Given the description of an element on the screen output the (x, y) to click on. 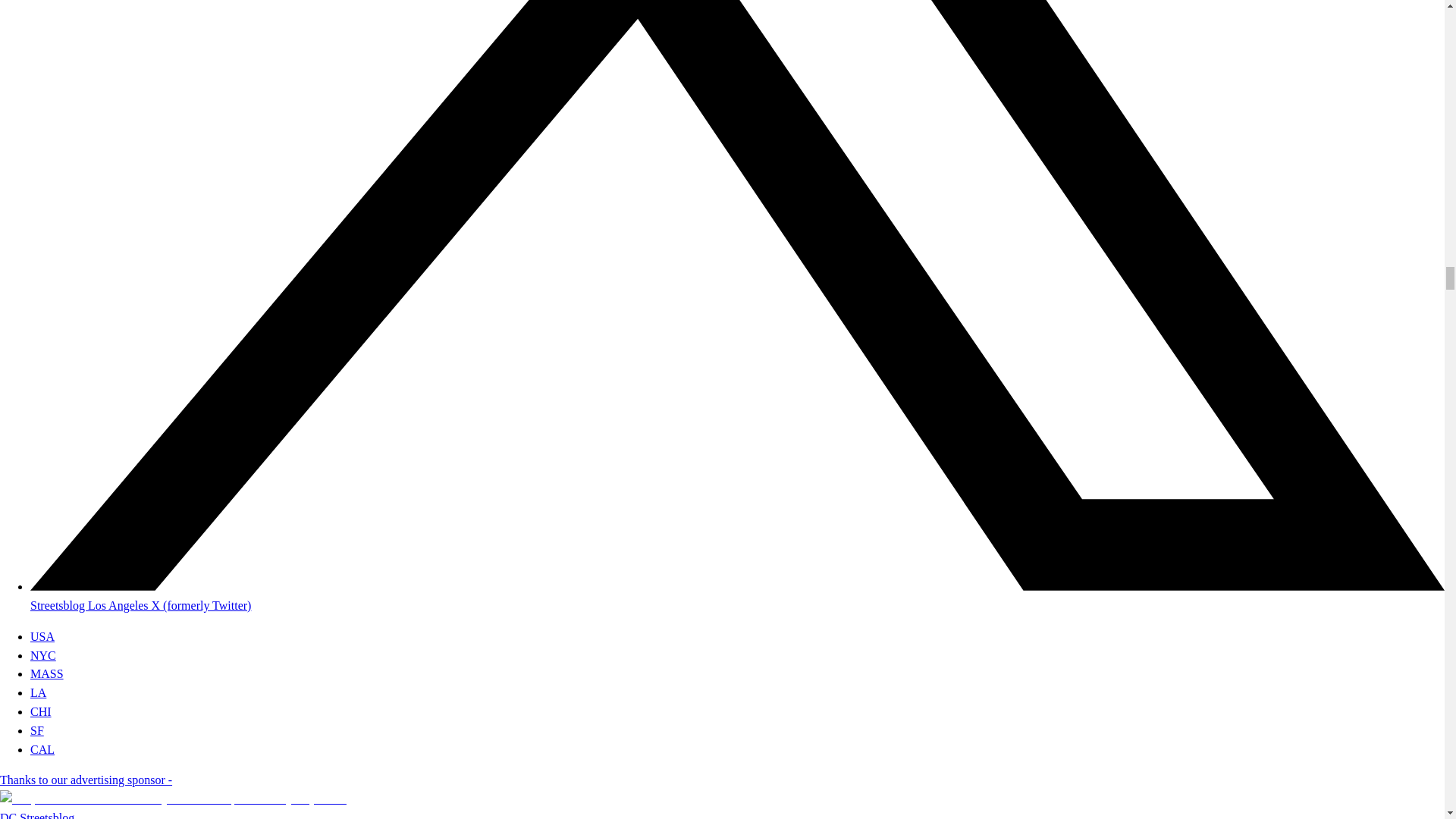
USA (42, 635)
MASS (47, 673)
CAL (42, 748)
LA (38, 692)
NYC (43, 655)
SF (36, 730)
CHI (40, 711)
DC Streetsblog (37, 815)
